Given the description of an element on the screen output the (x, y) to click on. 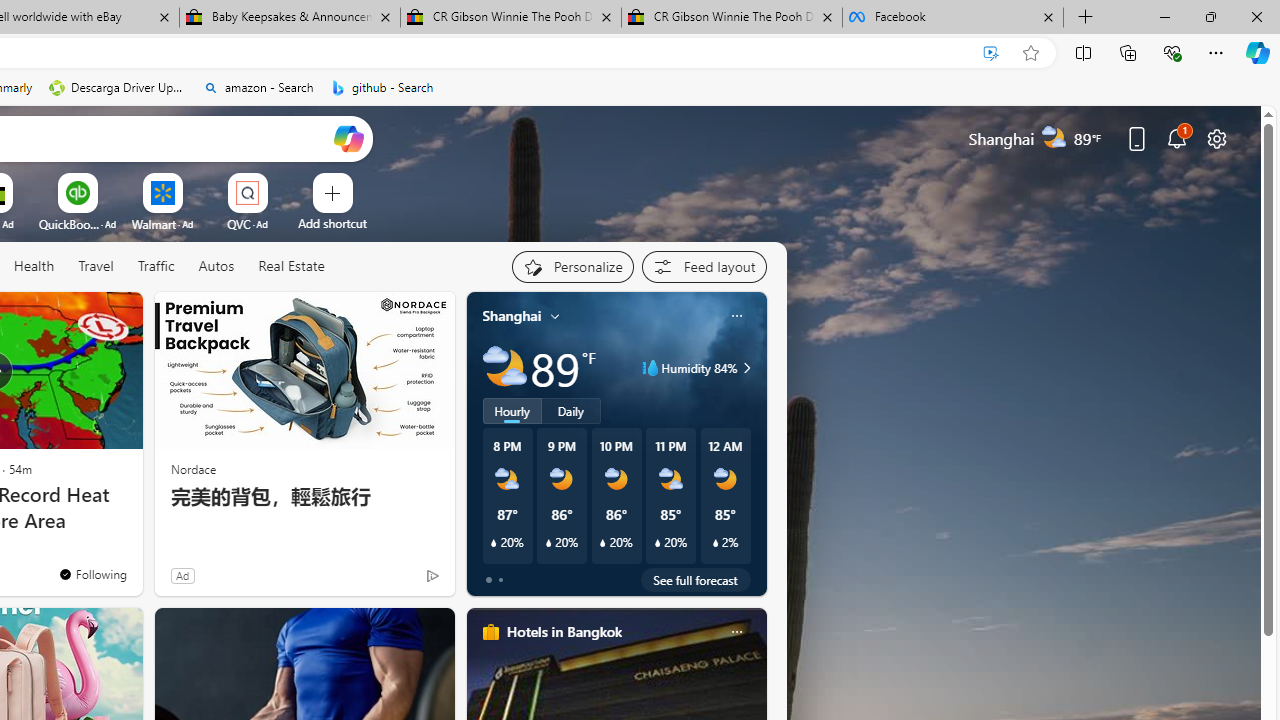
More Options (279, 179)
tab-1 (500, 579)
Hotels in Bangkok (563, 631)
Daily (571, 411)
Class: weather-current-precipitation-glyph (715, 543)
tab-0 (488, 579)
